Given the description of an element on the screen output the (x, y) to click on. 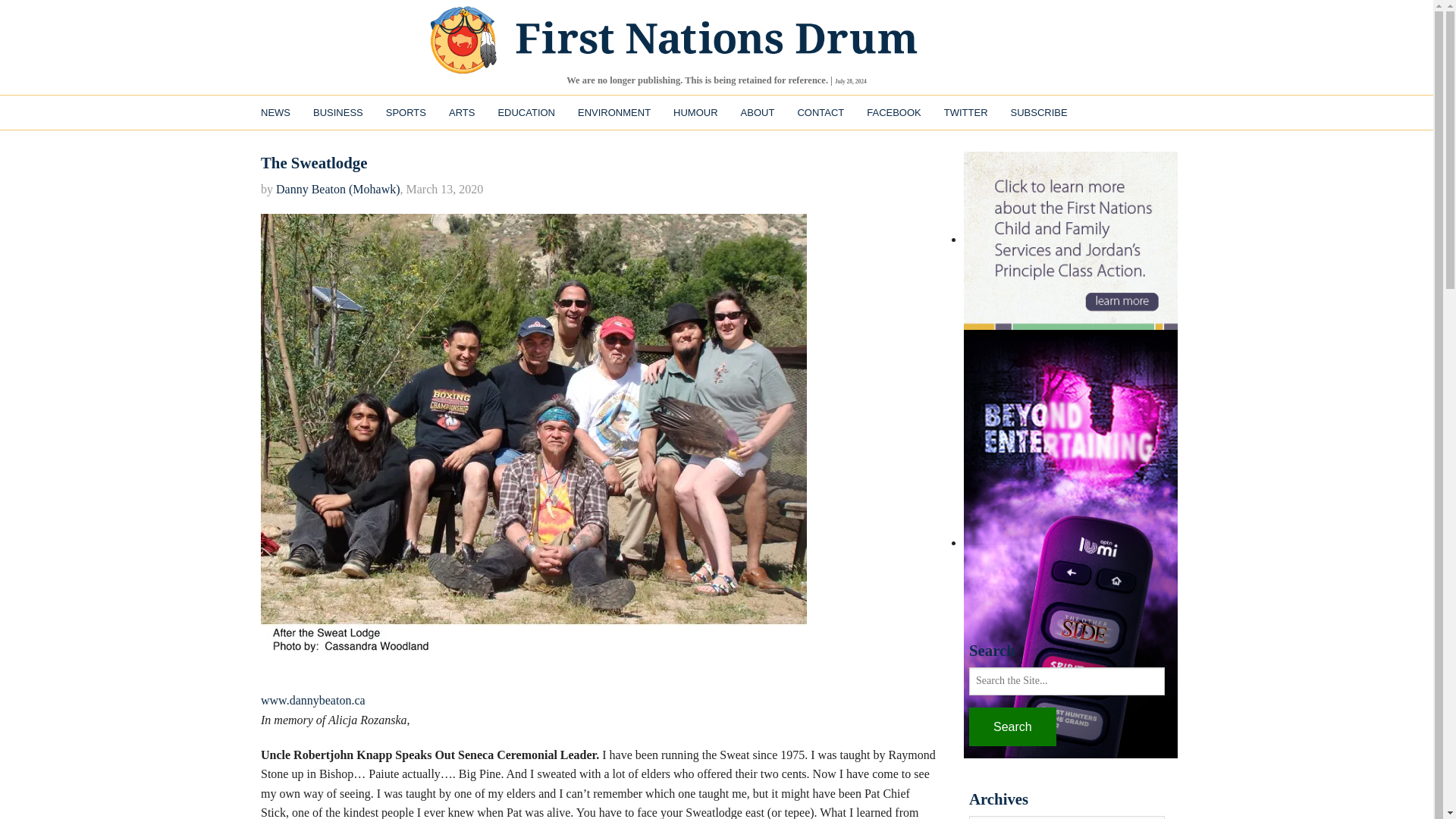
CONTACT (821, 112)
SPORTS (406, 112)
BUSINESS (337, 112)
Search (1013, 726)
EDUCATION (526, 112)
NEWS (274, 112)
ENVIRONMENT (614, 112)
FACEBOOK (894, 112)
HUMOUR (695, 112)
ABOUT (757, 112)
ARTS (462, 112)
TWITTER (965, 112)
www.dannybeaton.ca (312, 699)
SUBSCRIBE (1038, 112)
